Given the description of an element on the screen output the (x, y) to click on. 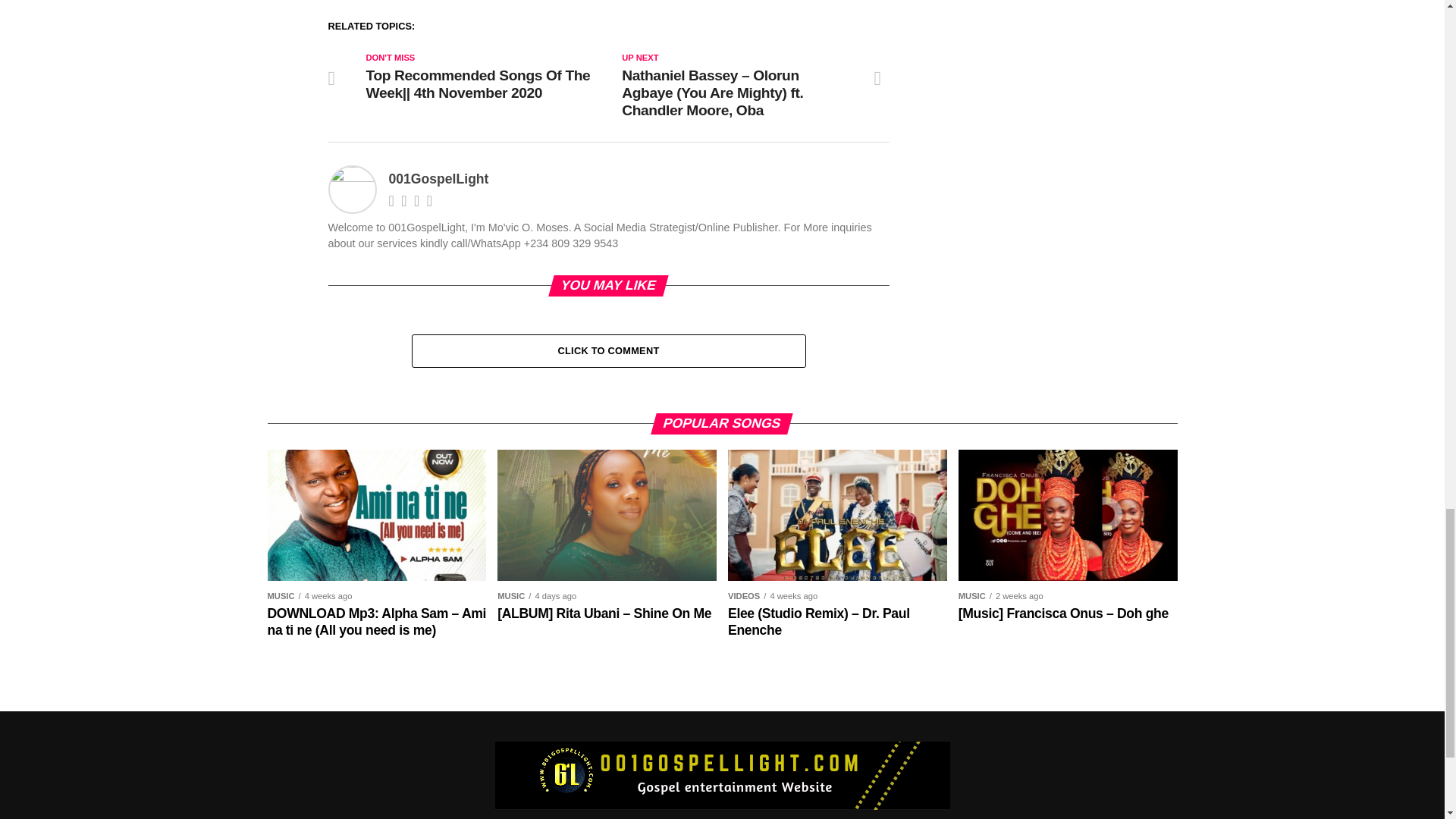
Posts by 001GospelLight (437, 178)
Like or Reblog (607, 5)
